Given the description of an element on the screen output the (x, y) to click on. 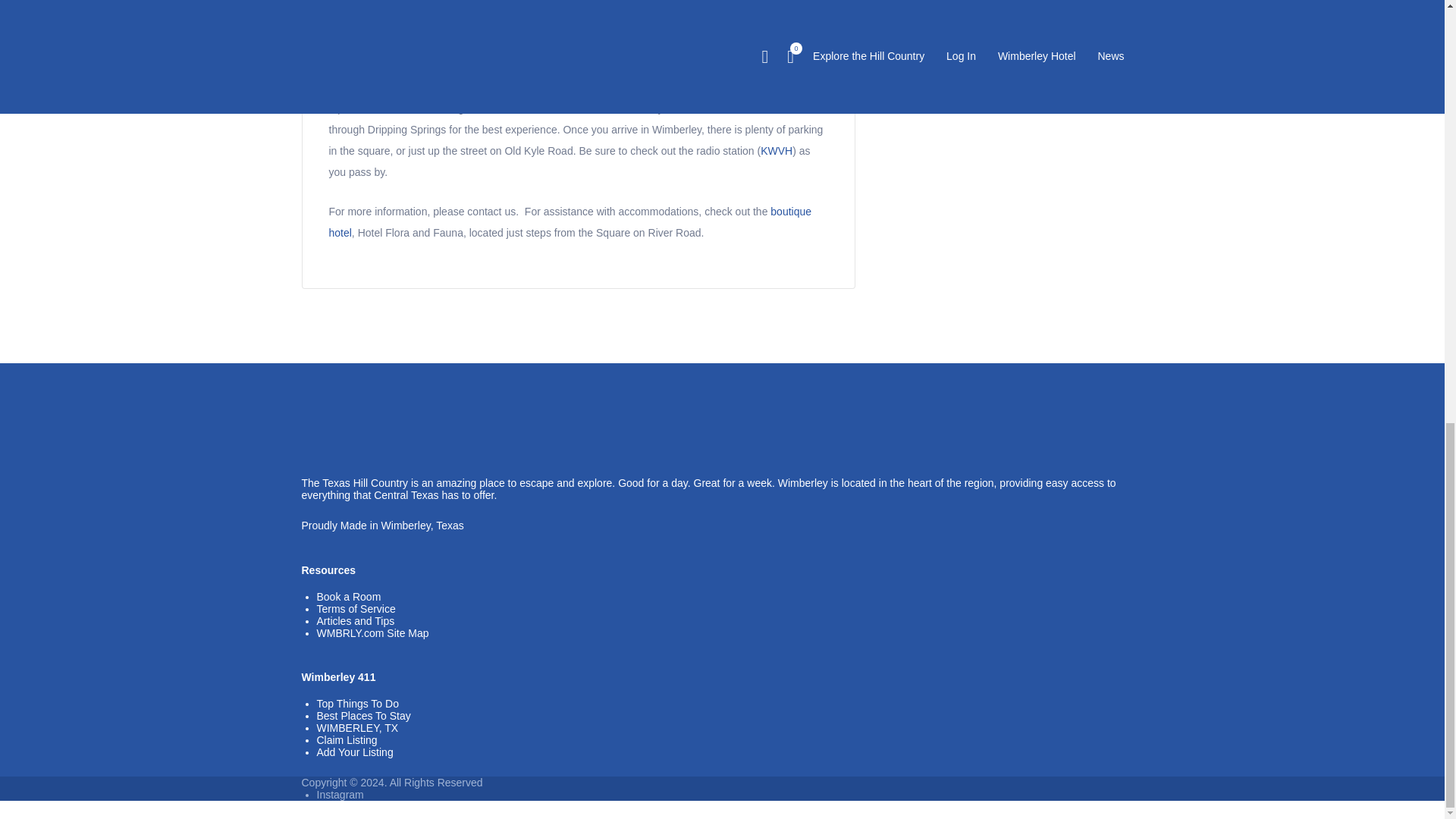
boutique hotel (570, 222)
KWVH (776, 150)
